Given the description of an element on the screen output the (x, y) to click on. 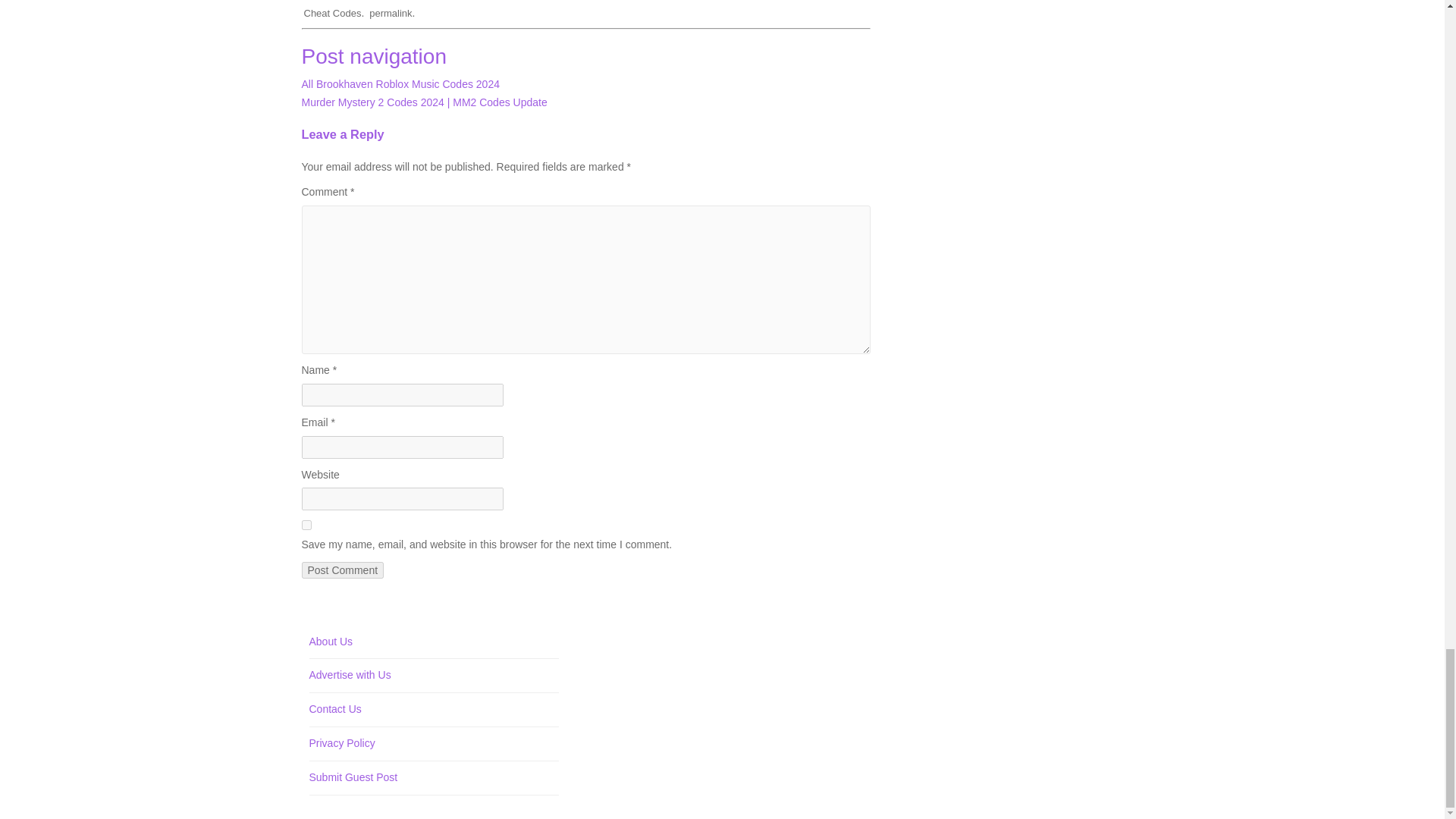
yes (306, 524)
Cheat Codes (331, 12)
Post Comment (342, 569)
Post Comment (342, 569)
permalink (390, 12)
All Brookhaven Roblox Music Codes 2024 (400, 83)
About Us (330, 641)
